Given the description of an element on the screen output the (x, y) to click on. 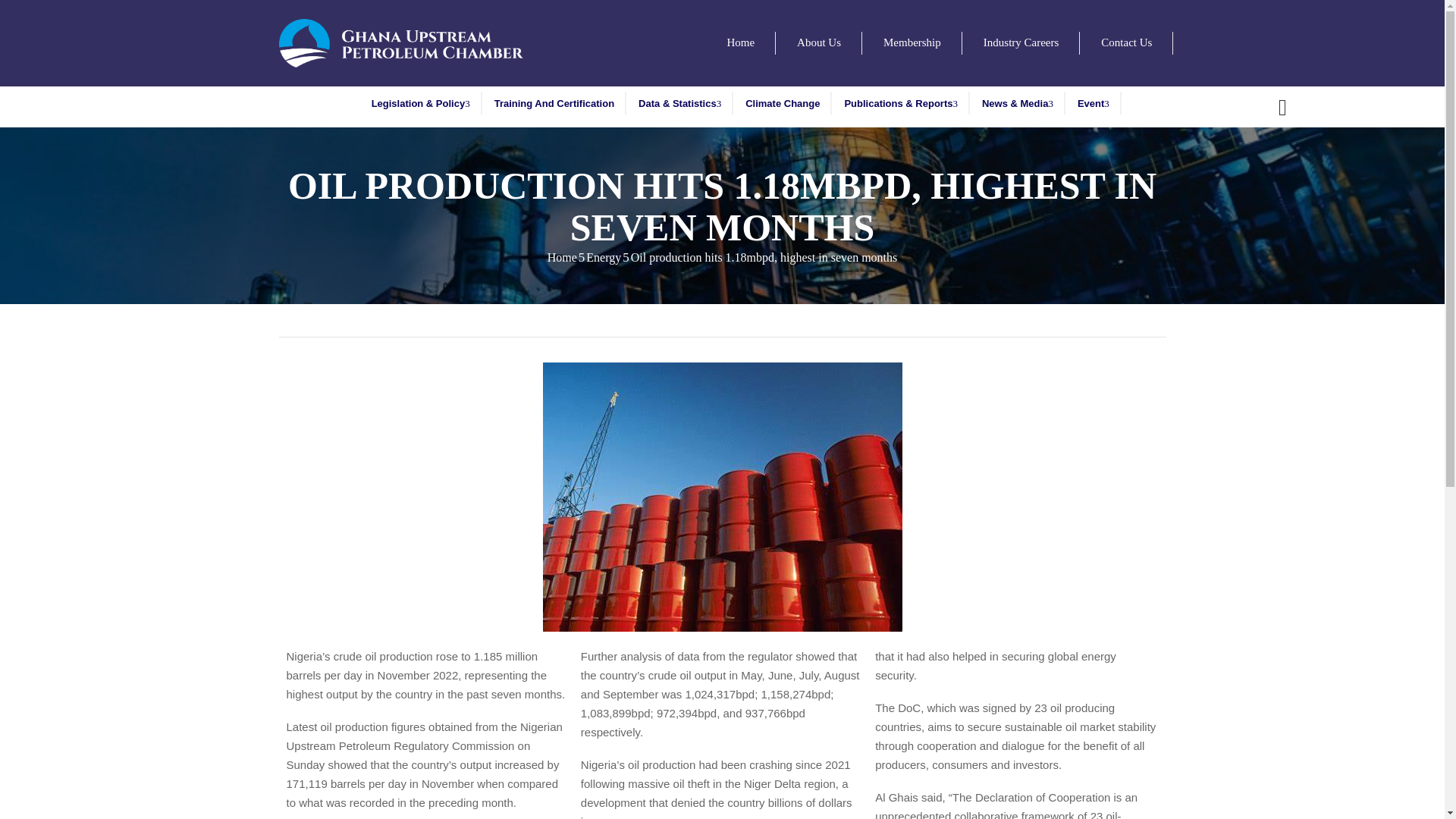
About Us (818, 42)
Industry Careers (1021, 42)
Industry Careers (1021, 42)
About Us (818, 42)
Training And Certification (553, 103)
Contact Us (1125, 42)
Membership (911, 42)
Search (1038, 409)
Training and Certification (553, 103)
Event (1093, 103)
